Given the description of an element on the screen output the (x, y) to click on. 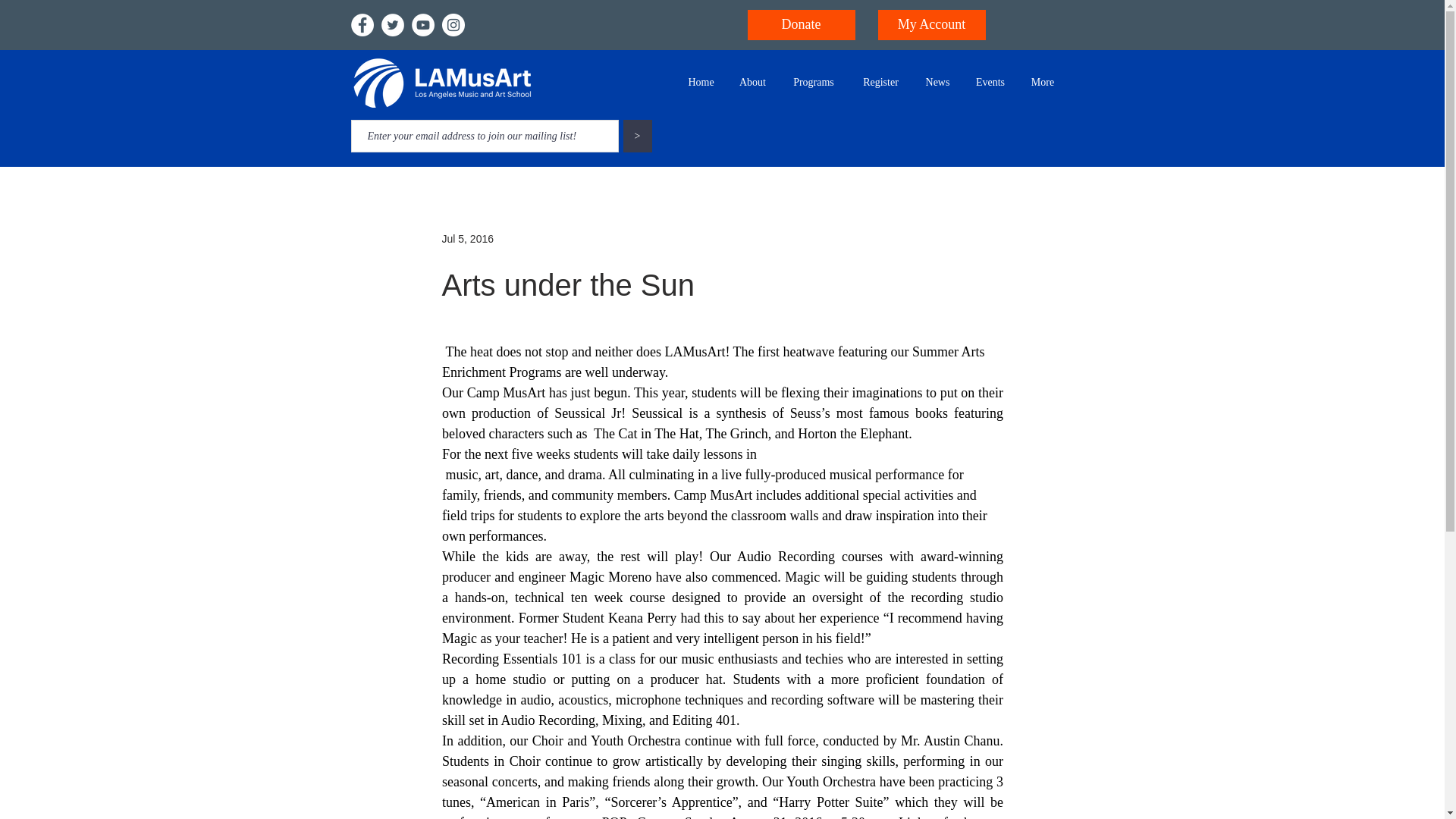
Home (700, 82)
Programs (813, 82)
Jul 5, 2016 (467, 237)
Register (880, 82)
News (937, 82)
About (752, 82)
Events (989, 82)
Donate (802, 24)
My Account (931, 24)
